Given the description of an element on the screen output the (x, y) to click on. 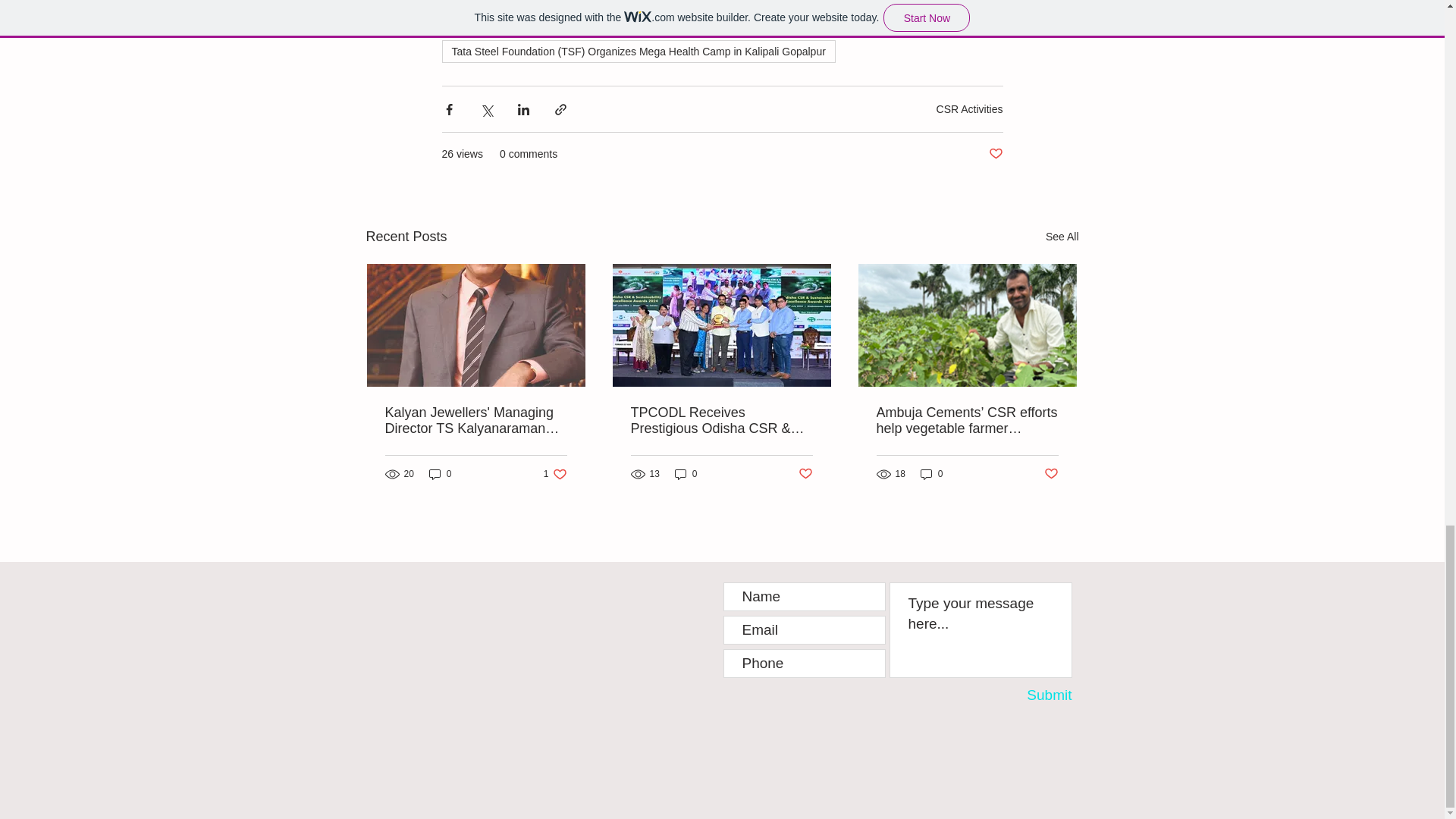
Post not marked as liked (804, 473)
0 (555, 473)
See All (440, 473)
Submit (1061, 237)
CSR Activities (1029, 695)
0 (969, 109)
0 (685, 473)
Post not marked as liked (931, 473)
